Given the description of an element on the screen output the (x, y) to click on. 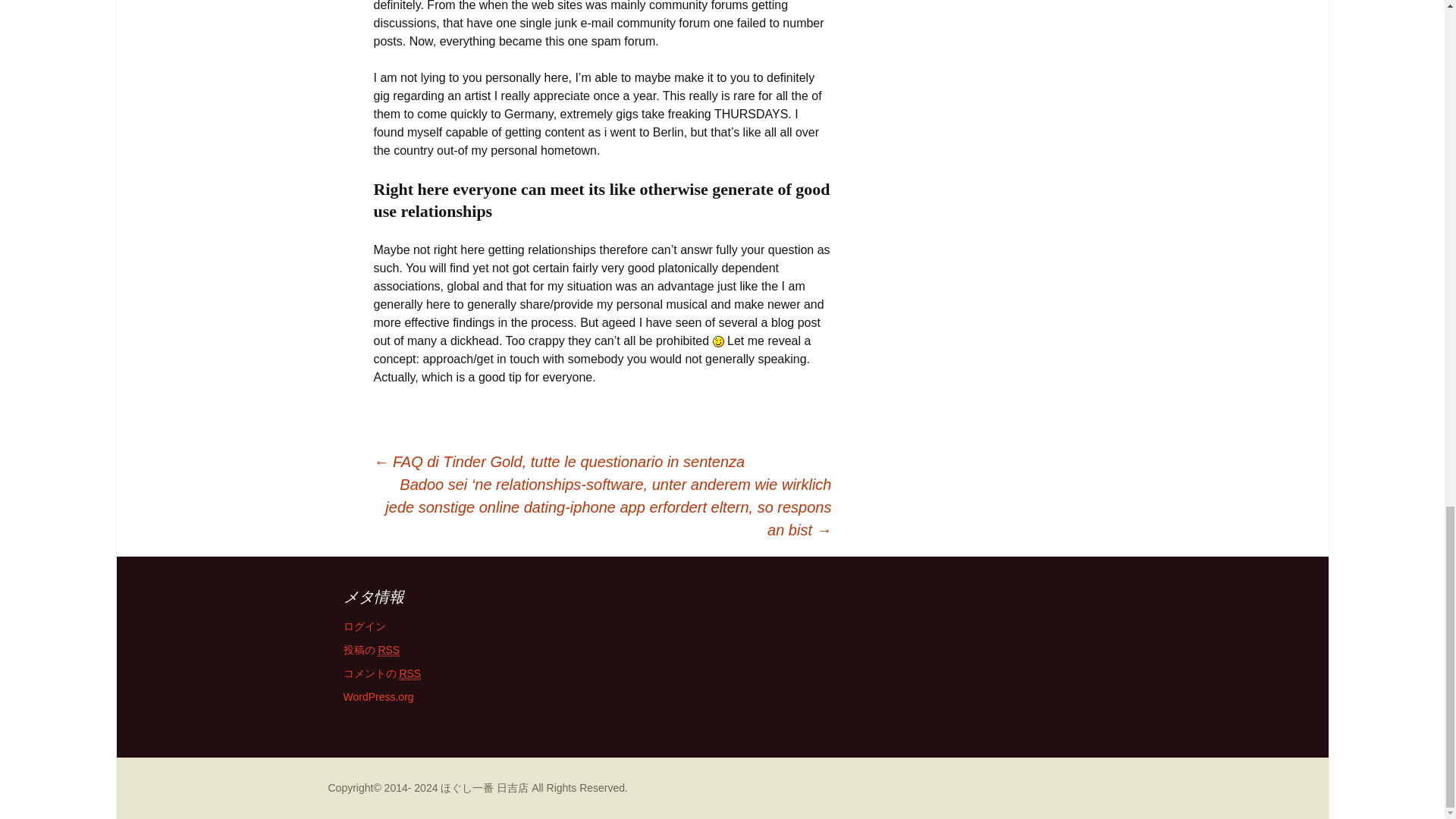
WordPress.org (377, 696)
Really Simple Syndication (387, 649)
Really Simple Syndication (409, 673)
